Given the description of an element on the screen output the (x, y) to click on. 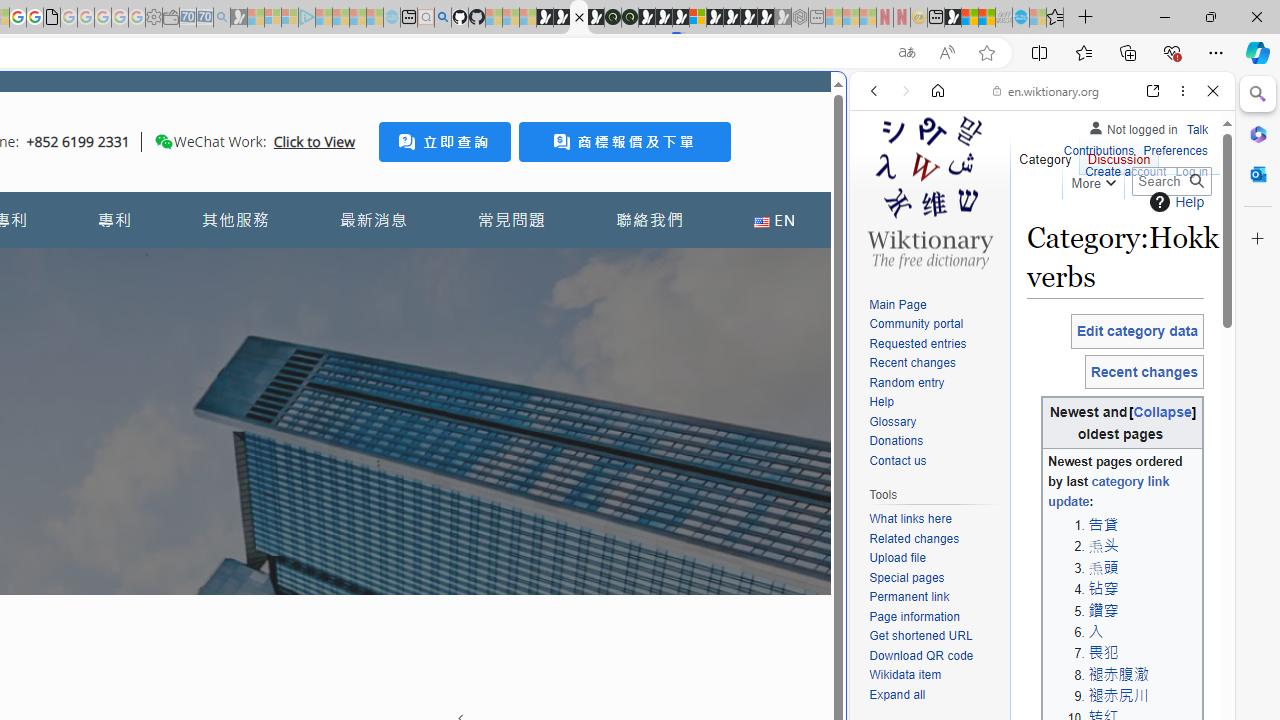
Sign in to your account (697, 17)
Donations (934, 442)
[Collapse] (1161, 412)
Get shortened URL (934, 637)
Go (1196, 181)
